Given the description of an element on the screen output the (x, y) to click on. 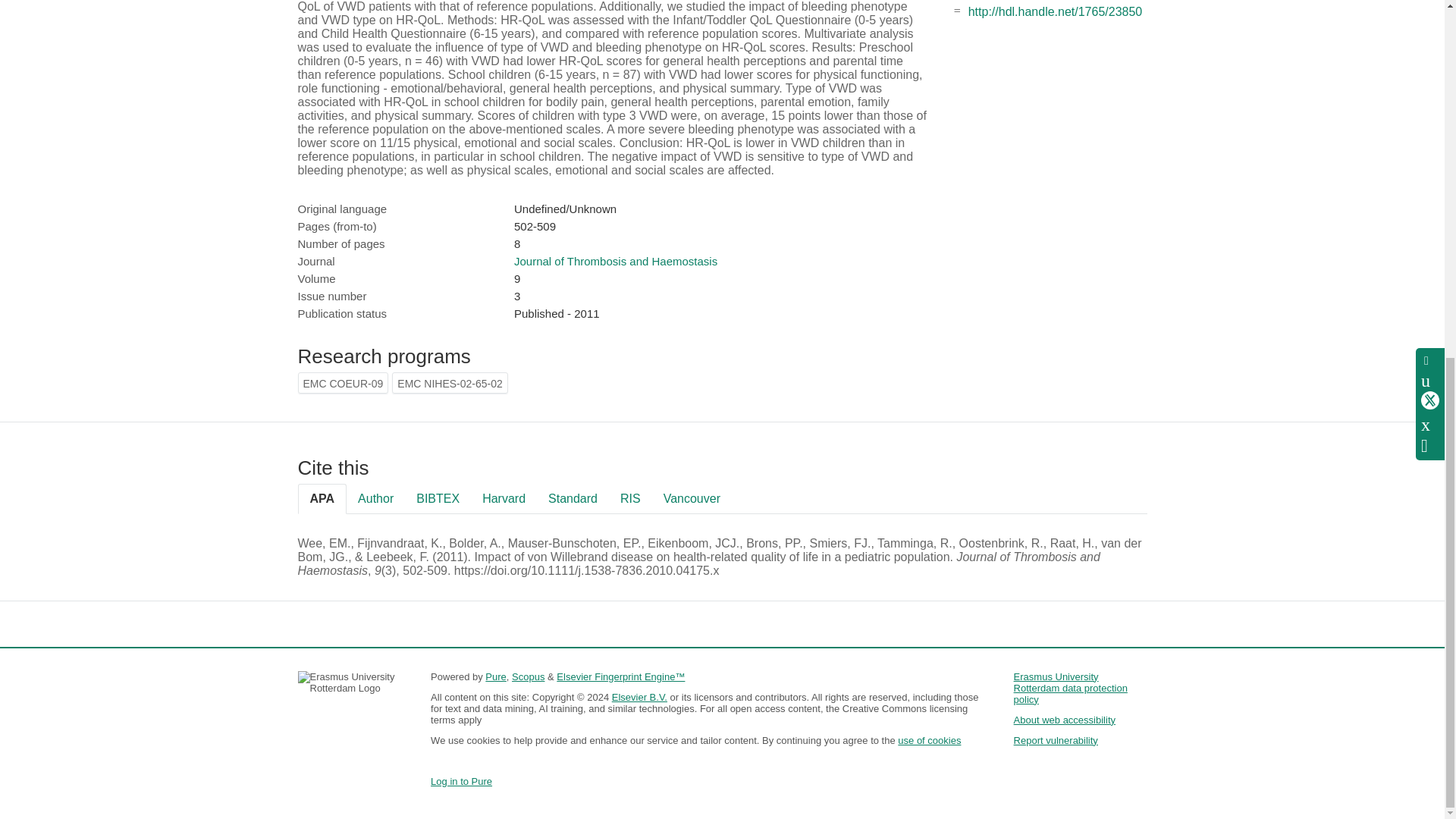
Scopus (528, 676)
Elsevier B.V. (638, 696)
Erasmus University Rotterdam data protection policy (1069, 687)
Journal of Thrombosis and Haemostasis (615, 260)
use of cookies (929, 740)
Log in to Pure (461, 781)
Pure (494, 676)
